Given the description of an element on the screen output the (x, y) to click on. 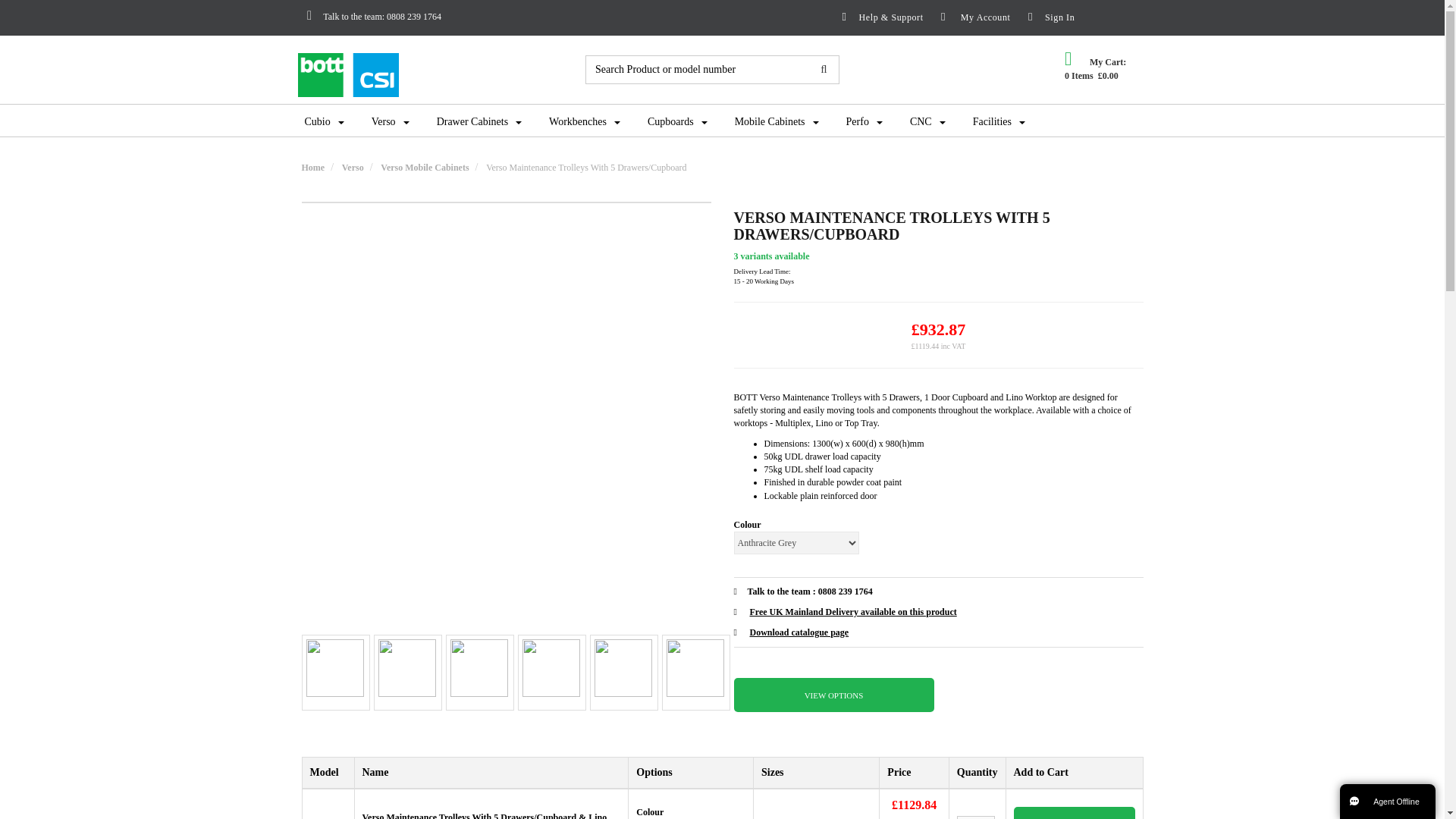
Cubio (324, 121)
Drawer Cabinets (479, 121)
 Sign In (1074, 17)
Go to Store Home Page (312, 167)
1 (975, 817)
Verso (390, 121)
 My Account (970, 17)
Product search, at least 2 characters are required (697, 69)
Workbenches (584, 121)
